Given the description of an element on the screen output the (x, y) to click on. 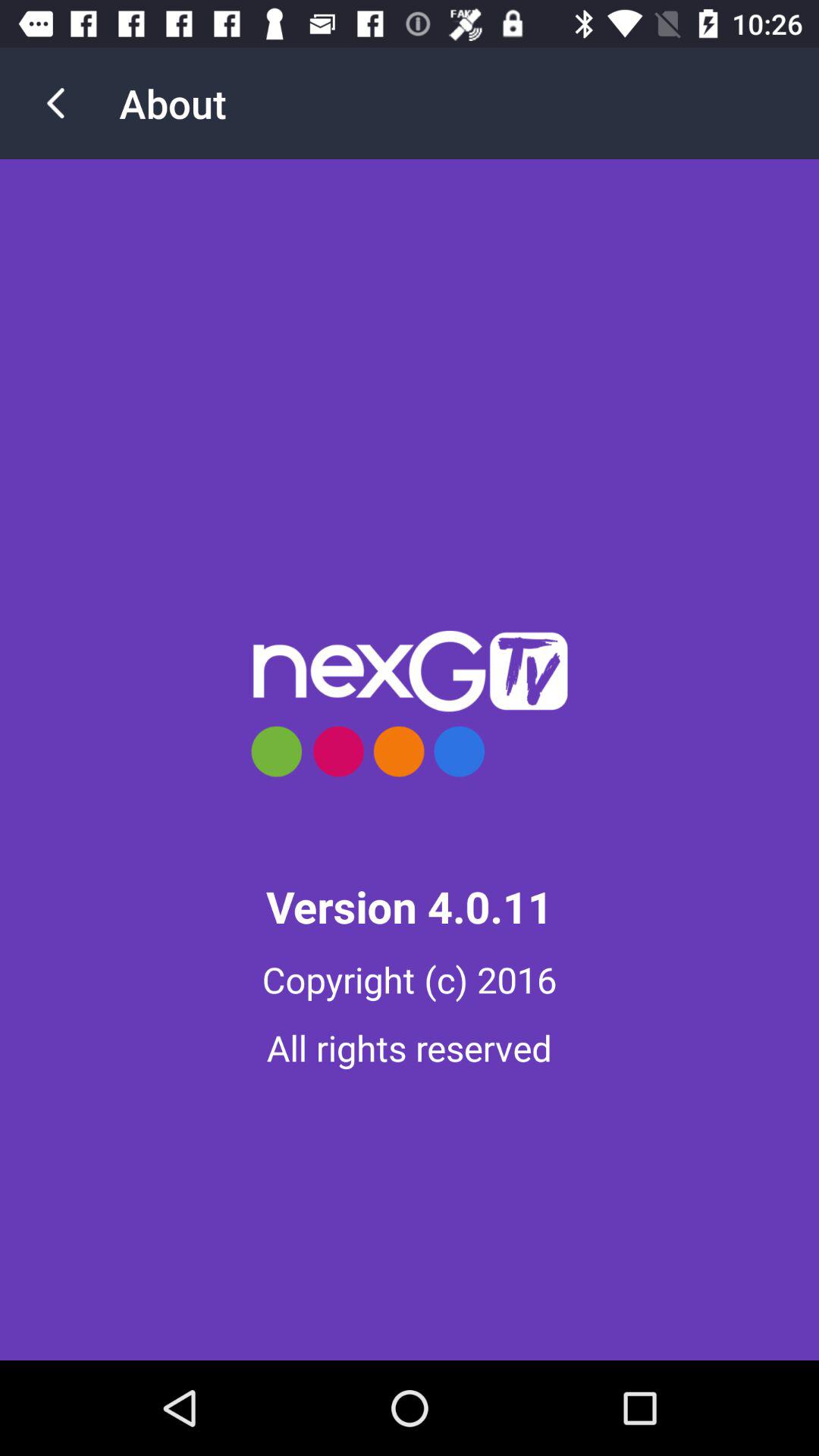
turn off app to the left of the about app (55, 103)
